Given the description of an element on the screen output the (x, y) to click on. 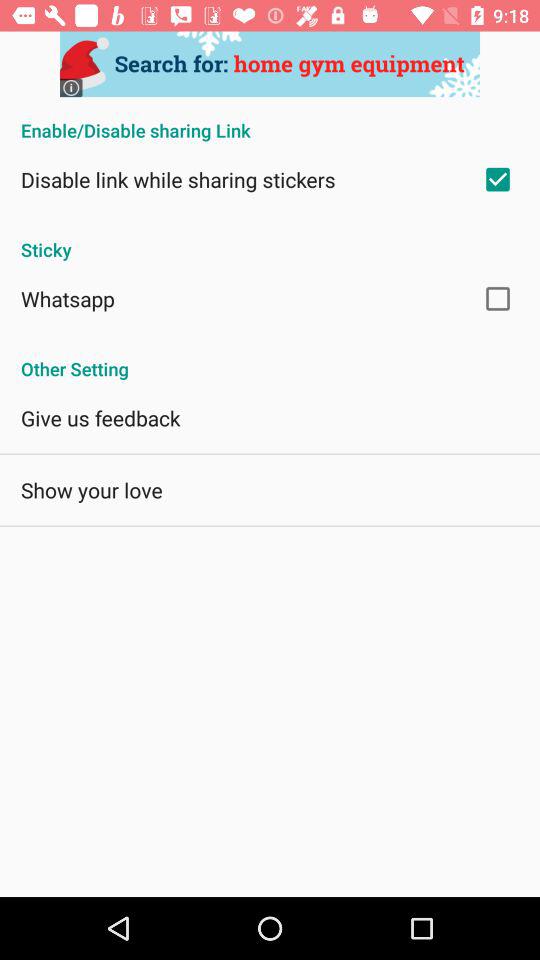
advertisement link (270, 64)
